Given the description of an element on the screen output the (x, y) to click on. 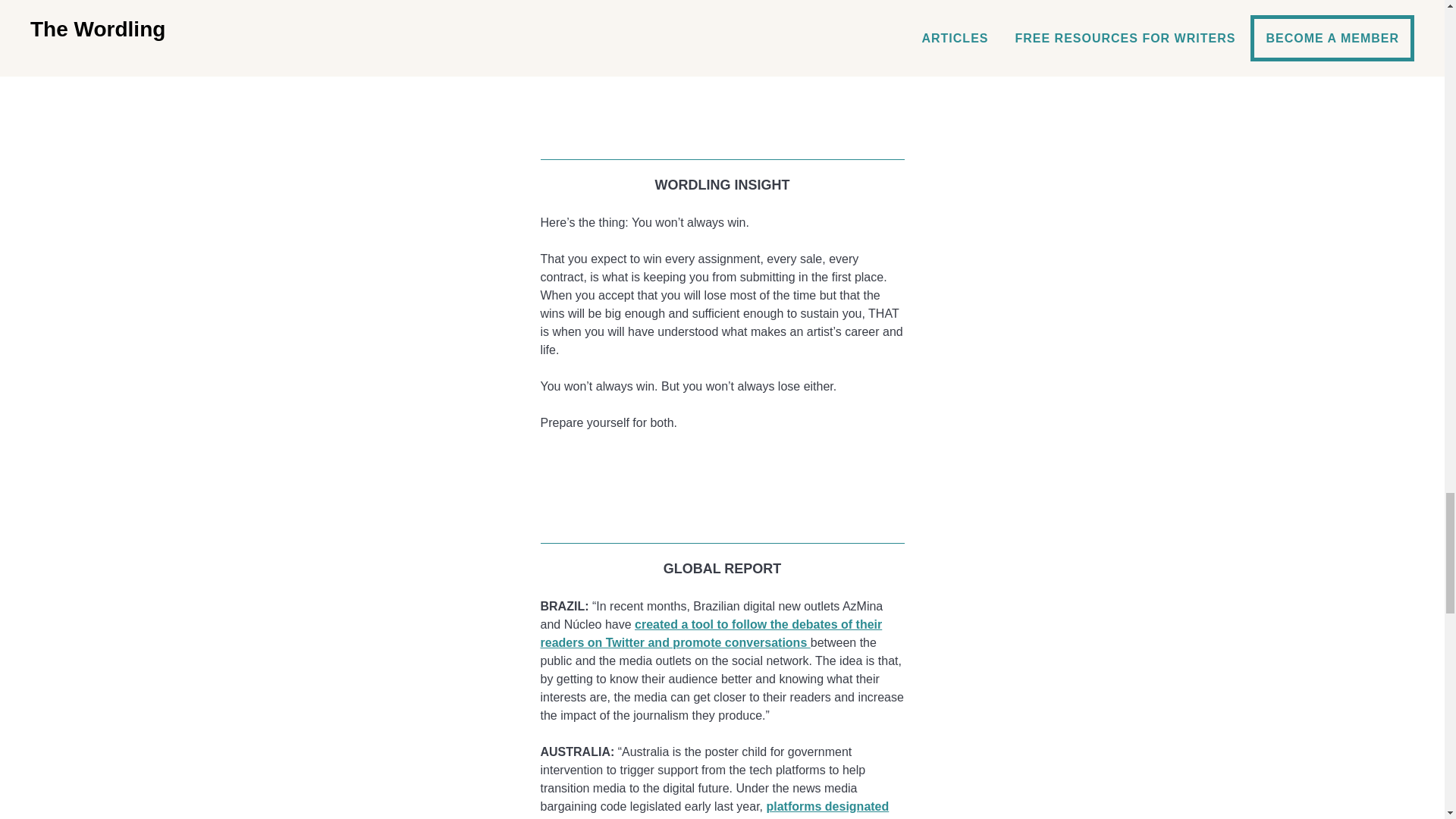
twitter (721, 99)
facebook (721, 75)
E-Mail (721, 124)
twitter (721, 483)
facebook (721, 459)
